Given the description of an element on the screen output the (x, y) to click on. 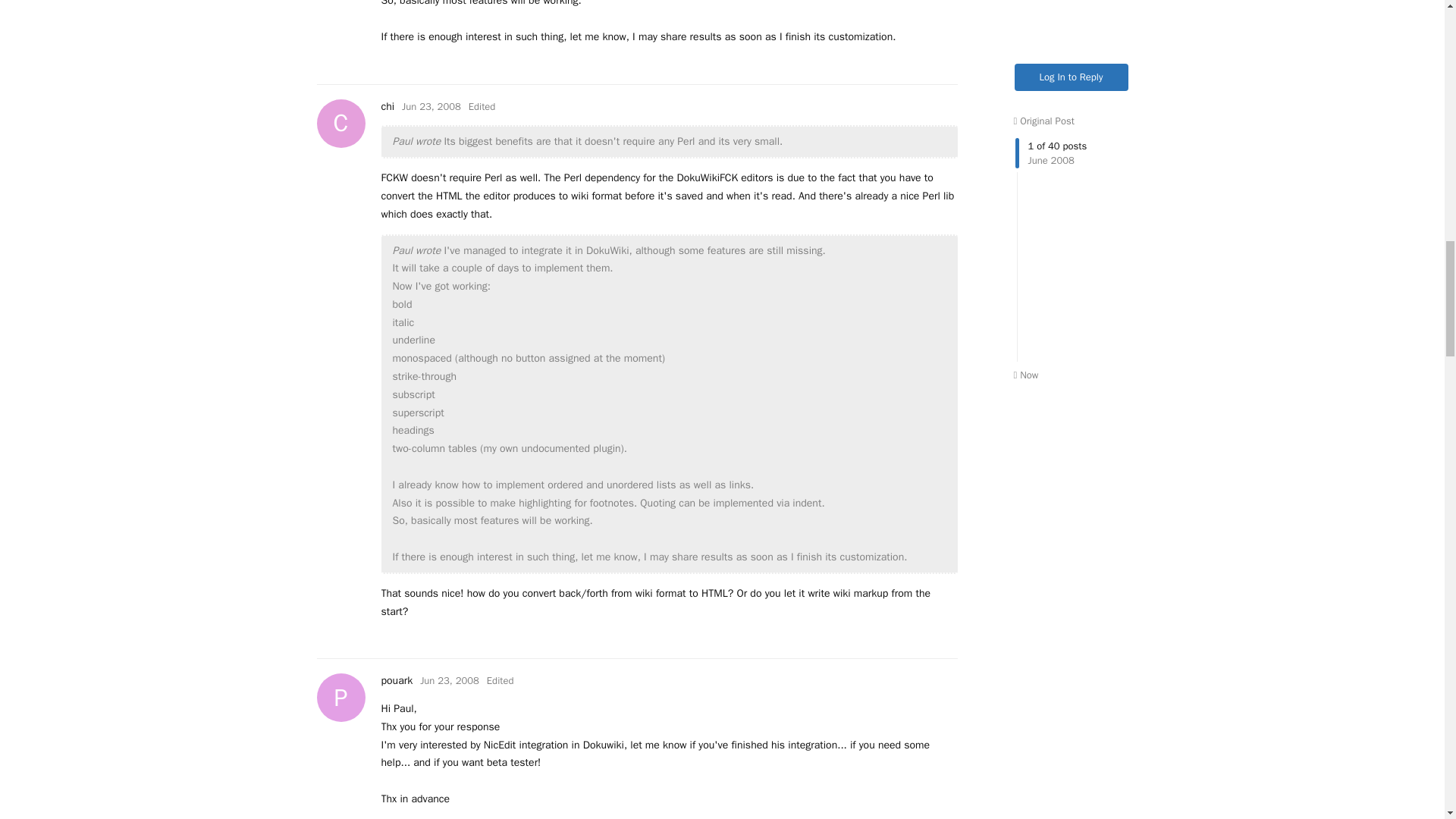
Jun 23, 2008 (449, 680)
Jun 23, 2008 (396, 680)
